Given the description of an element on the screen output the (x, y) to click on. 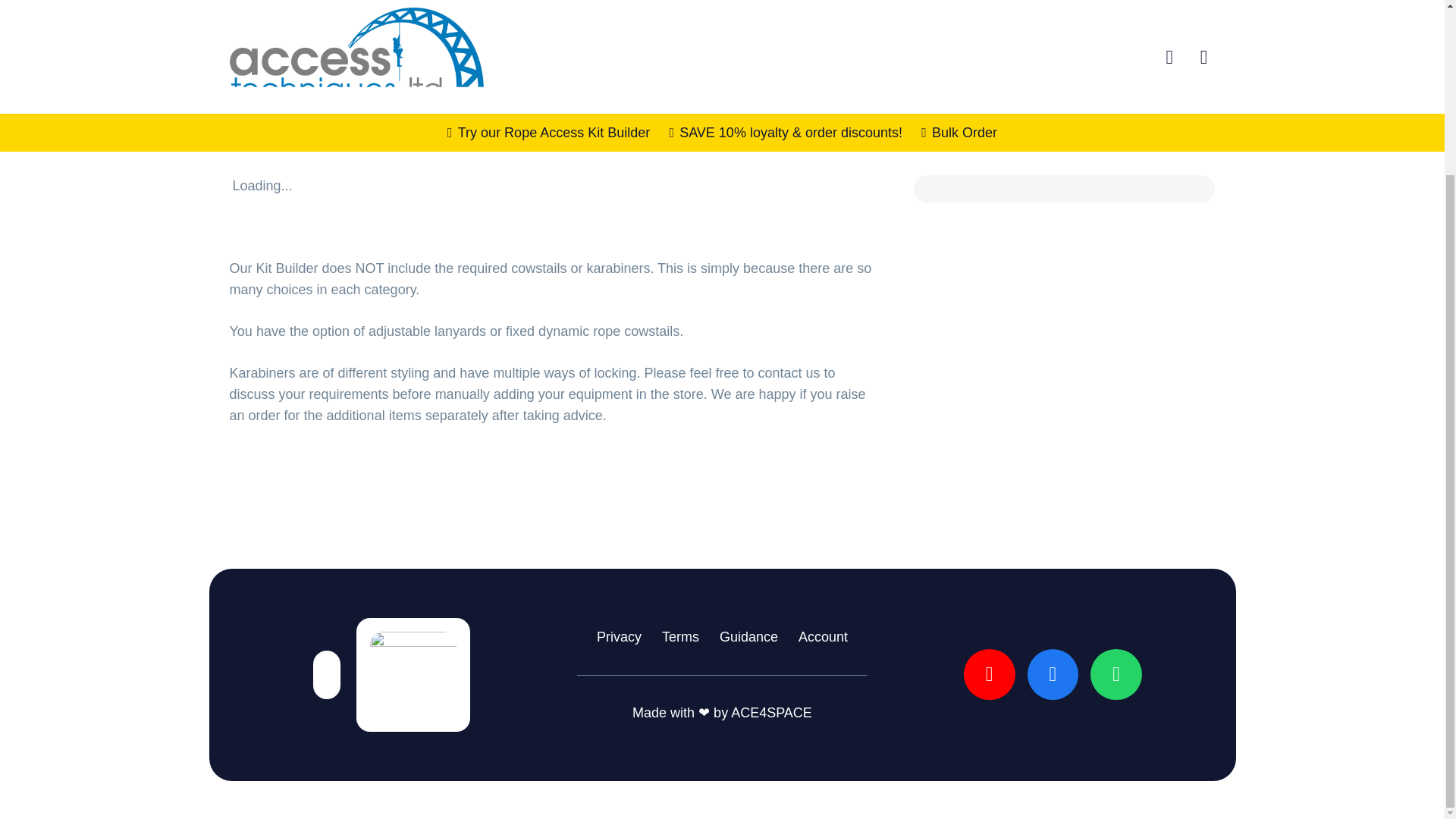
Terms (680, 636)
WhatsApp (1115, 675)
YouTube (988, 675)
Guidance (748, 636)
Facebook (1052, 675)
ACE4SPACE (771, 712)
Privacy (619, 636)
Account (822, 636)
